Given the description of an element on the screen output the (x, y) to click on. 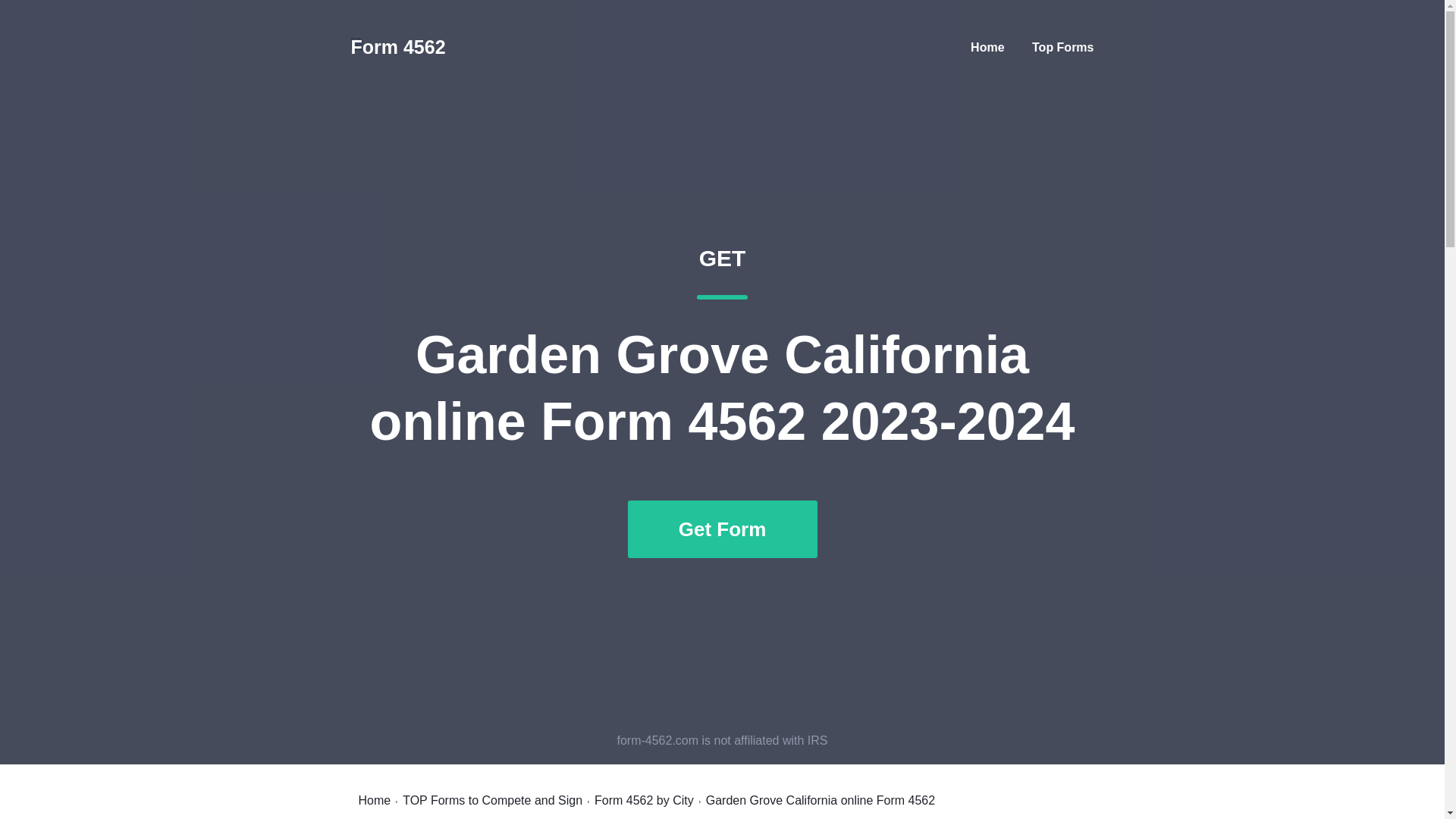
Top Forms (1062, 47)
Form 4562 (397, 46)
TOP Forms to Compete and Sign (492, 800)
Home (987, 47)
Home (374, 800)
Form 4562 by City (644, 800)
